Given the description of an element on the screen output the (x, y) to click on. 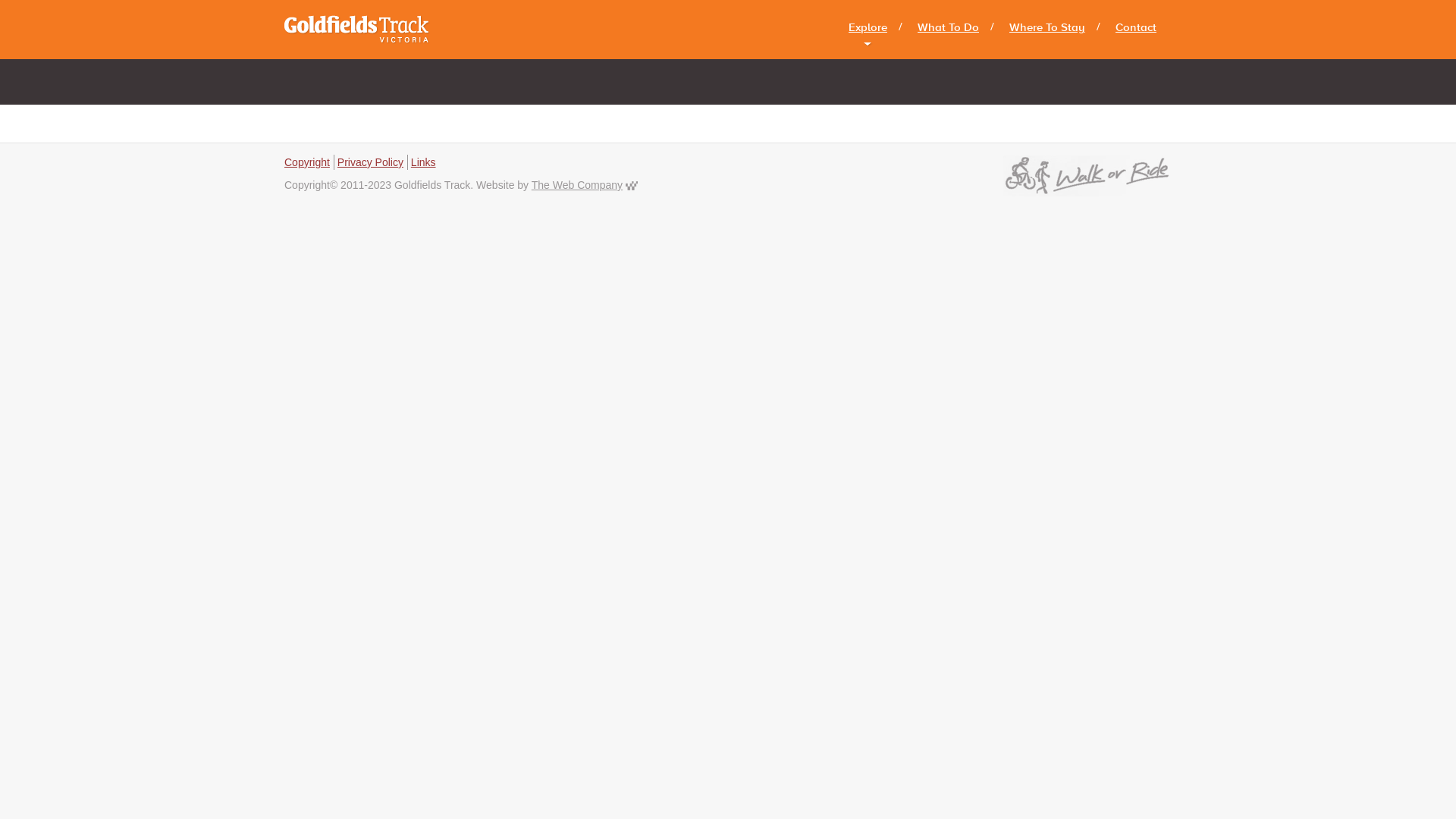
Contact Element type: text (1135, 27)
The Web Company Element type: text (576, 184)
Links Element type: text (423, 162)
Privacy Policy Element type: text (370, 162)
What To Do Element type: text (948, 27)
Copyright Element type: text (306, 162)
The Web Company Element type: hover (631, 184)
Where To Stay Element type: text (1047, 27)
Goldfields Track Element type: hover (356, 29)
Explore Element type: text (867, 27)
